Given the description of an element on the screen output the (x, y) to click on. 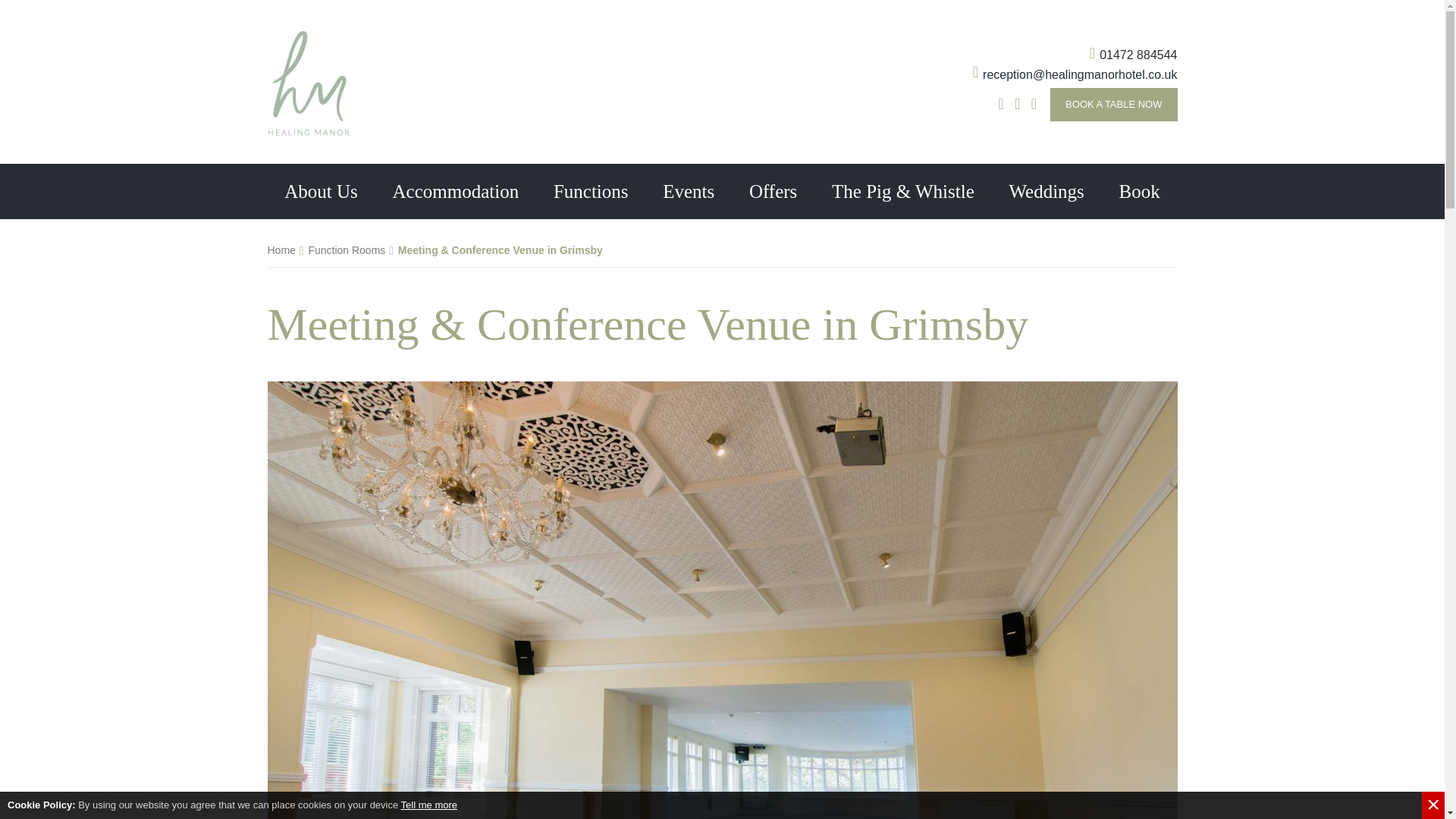
01472 884544 (1133, 54)
Events (688, 191)
BOOK A TABLE NOW (1112, 104)
Accommodation (455, 191)
About Us (320, 191)
Functions (590, 191)
